Given the description of an element on the screen output the (x, y) to click on. 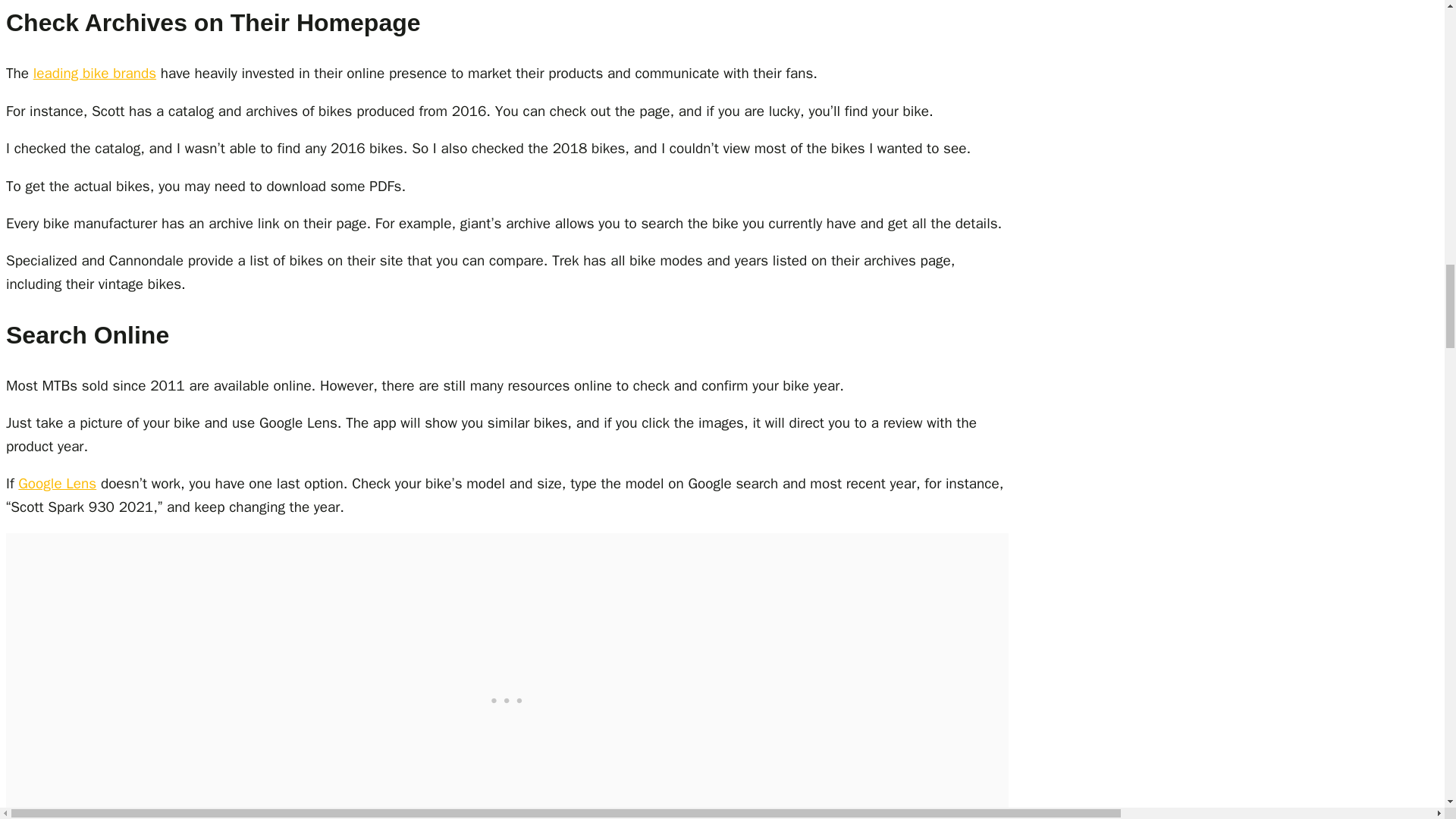
leading bike brands (94, 73)
Google Lens (56, 484)
